Given the description of an element on the screen output the (x, y) to click on. 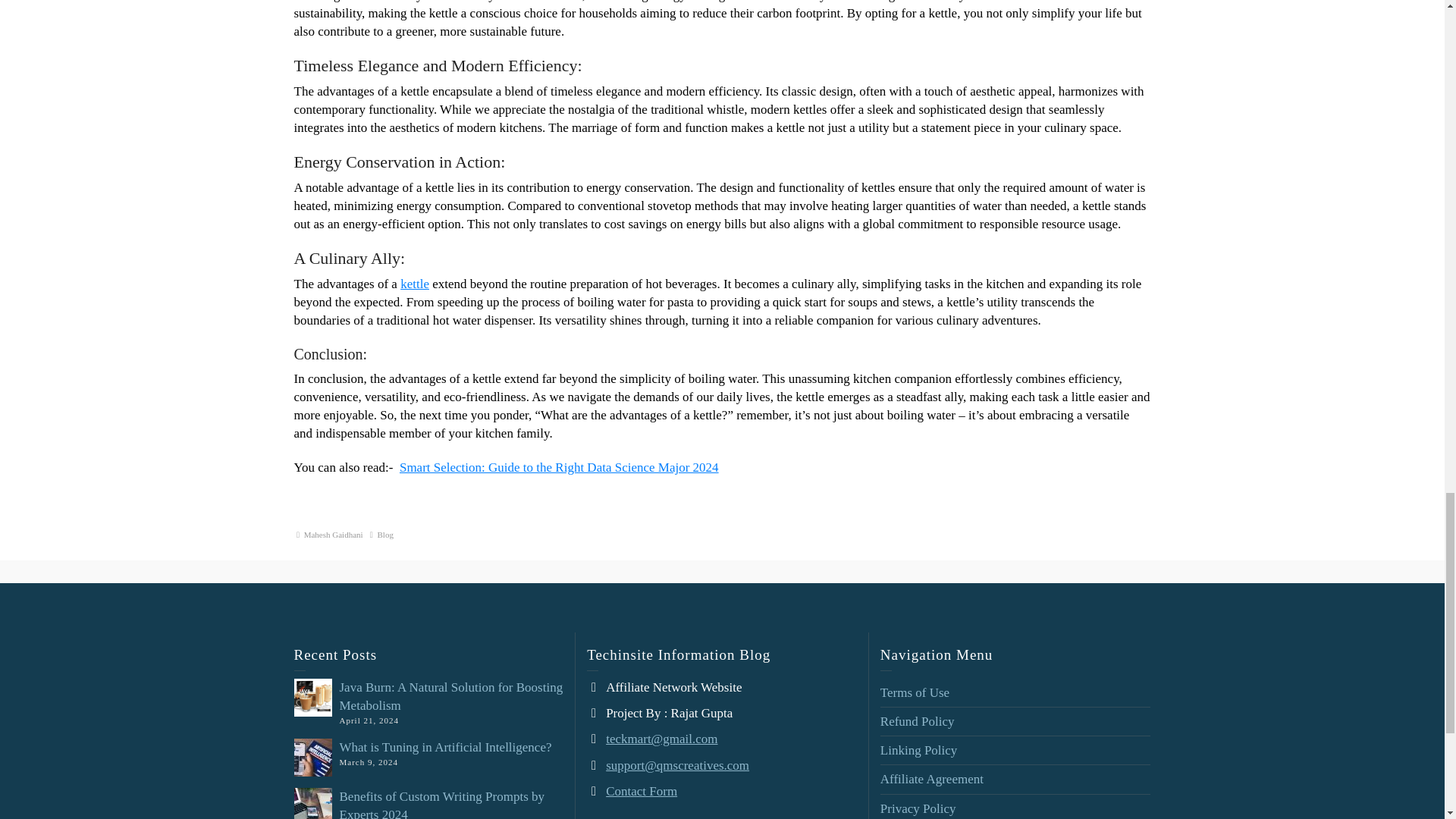
Mahesh Gaidhani (333, 533)
What is Tuning in Artificial Intelligence? (445, 747)
Java Burn: A Natural Solution for Boosting Metabolism (451, 696)
kettle (414, 283)
Benefits of Custom Writing Prompts by Experts 2024 (441, 804)
Contact Form (641, 790)
Smart Selection: Guide to the Right Data Science Major 2024 (558, 467)
What is Tuning in Artificial Intelligence? (445, 747)
Java Burn: A Natural Solution for Boosting Metabolism (451, 696)
Posts by Mahesh Gaidhani (333, 533)
Blog (385, 533)
Benefits of Custom Writing Prompts by Experts 2024 (441, 804)
